Given the description of an element on the screen output the (x, y) to click on. 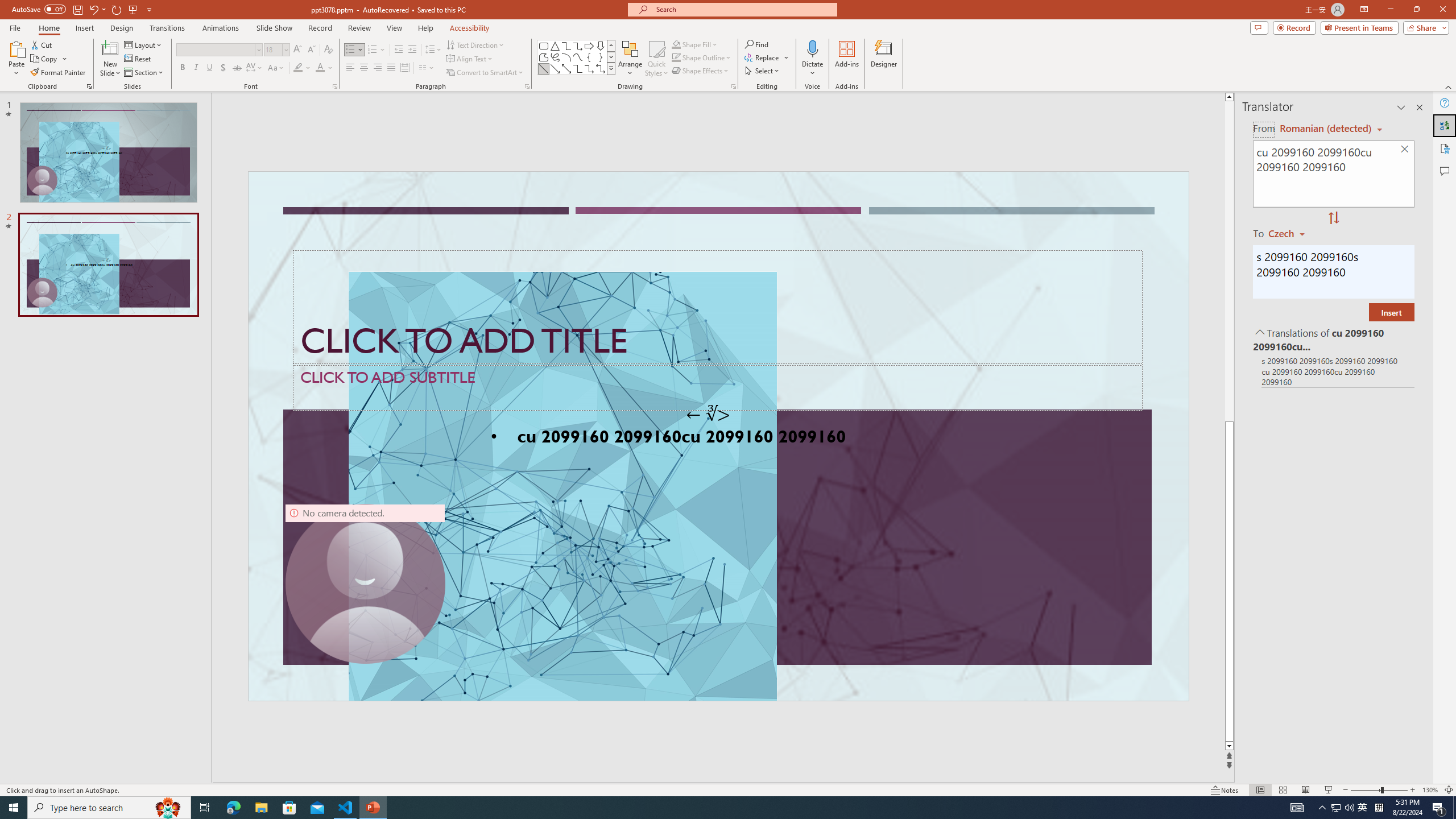
Line Arrow: Double (566, 68)
